Given the description of an element on the screen output the (x, y) to click on. 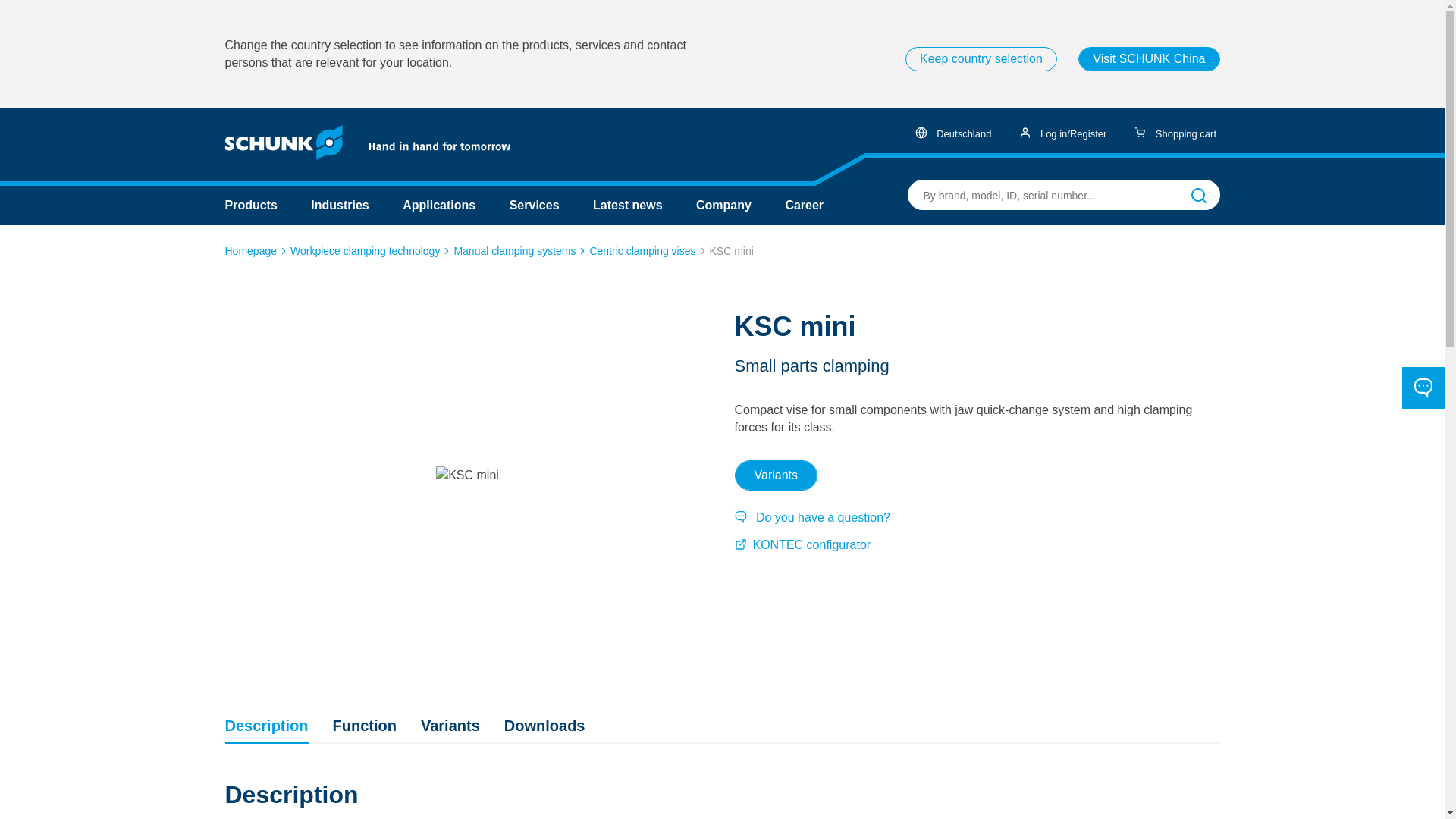
Products (250, 205)
Visit SCHUNK China (1149, 58)
Keep country selection (981, 58)
